Given the description of an element on the screen output the (x, y) to click on. 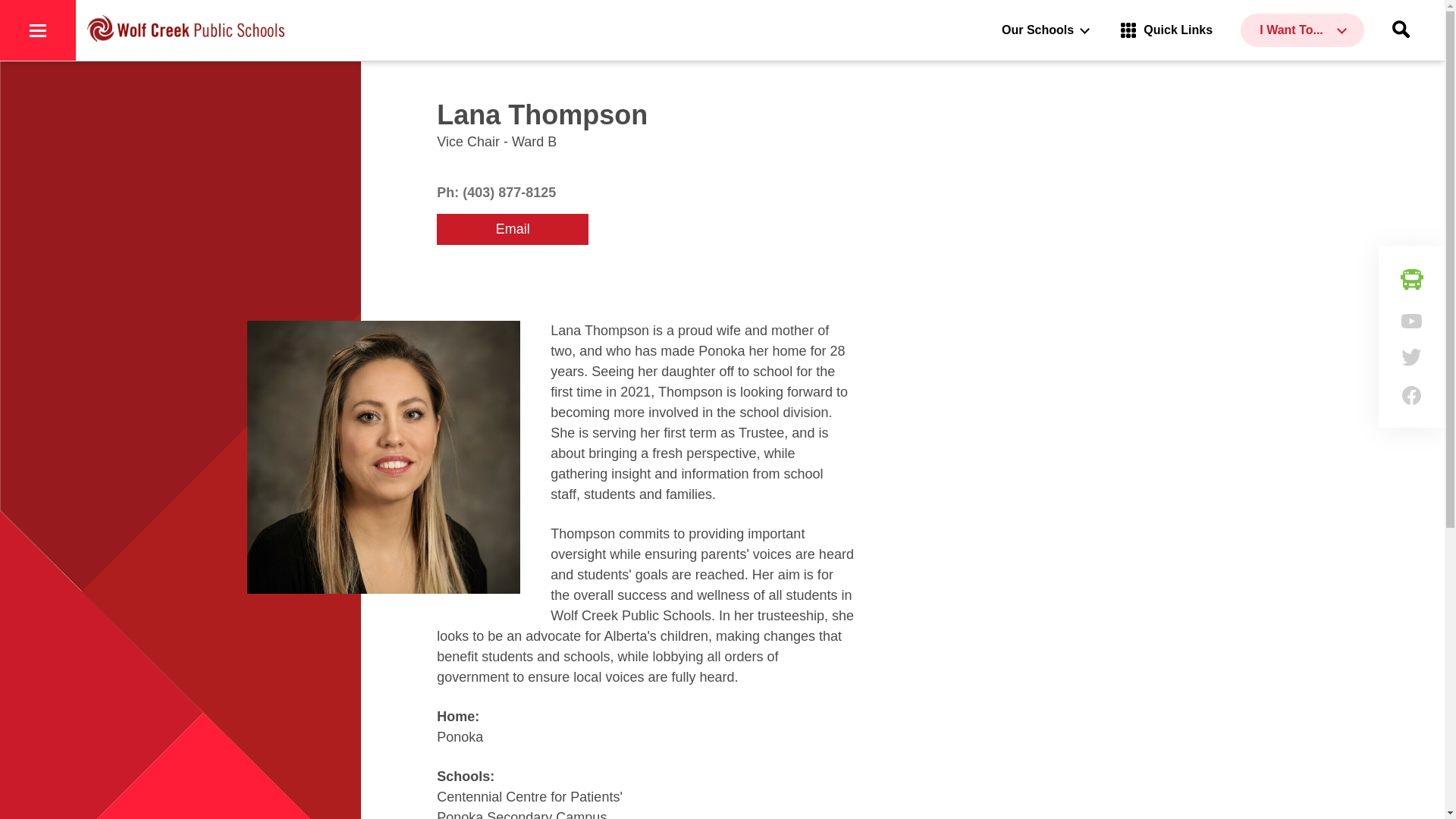
Our Schools (1045, 30)
Menu Toggle (37, 30)
I Want To... (1302, 29)
Wolf Creek Public Schools (185, 30)
Quick Links (1166, 30)
Search Toggle (1400, 30)
